Given the description of an element on the screen output the (x, y) to click on. 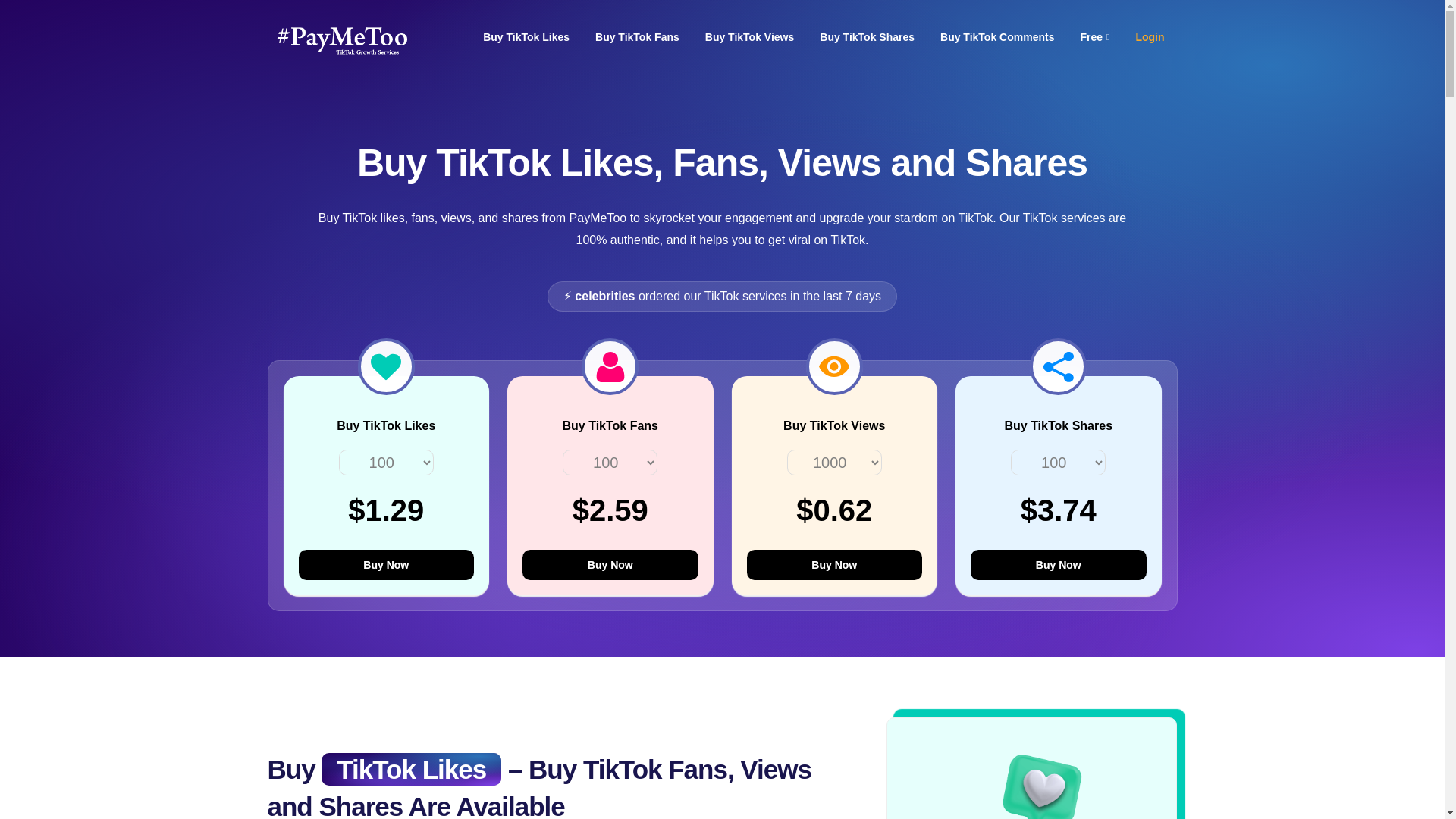
Buy TikTok Likes (525, 37)
Buy Now (610, 564)
Buy TikTok Shares (867, 37)
PayMeToo (342, 36)
Login (1149, 37)
Free (1094, 37)
Buy TikTok Comments (996, 37)
Buy Now (386, 564)
Login (1149, 37)
Buy TikTok Views (749, 37)
